Given the description of an element on the screen output the (x, y) to click on. 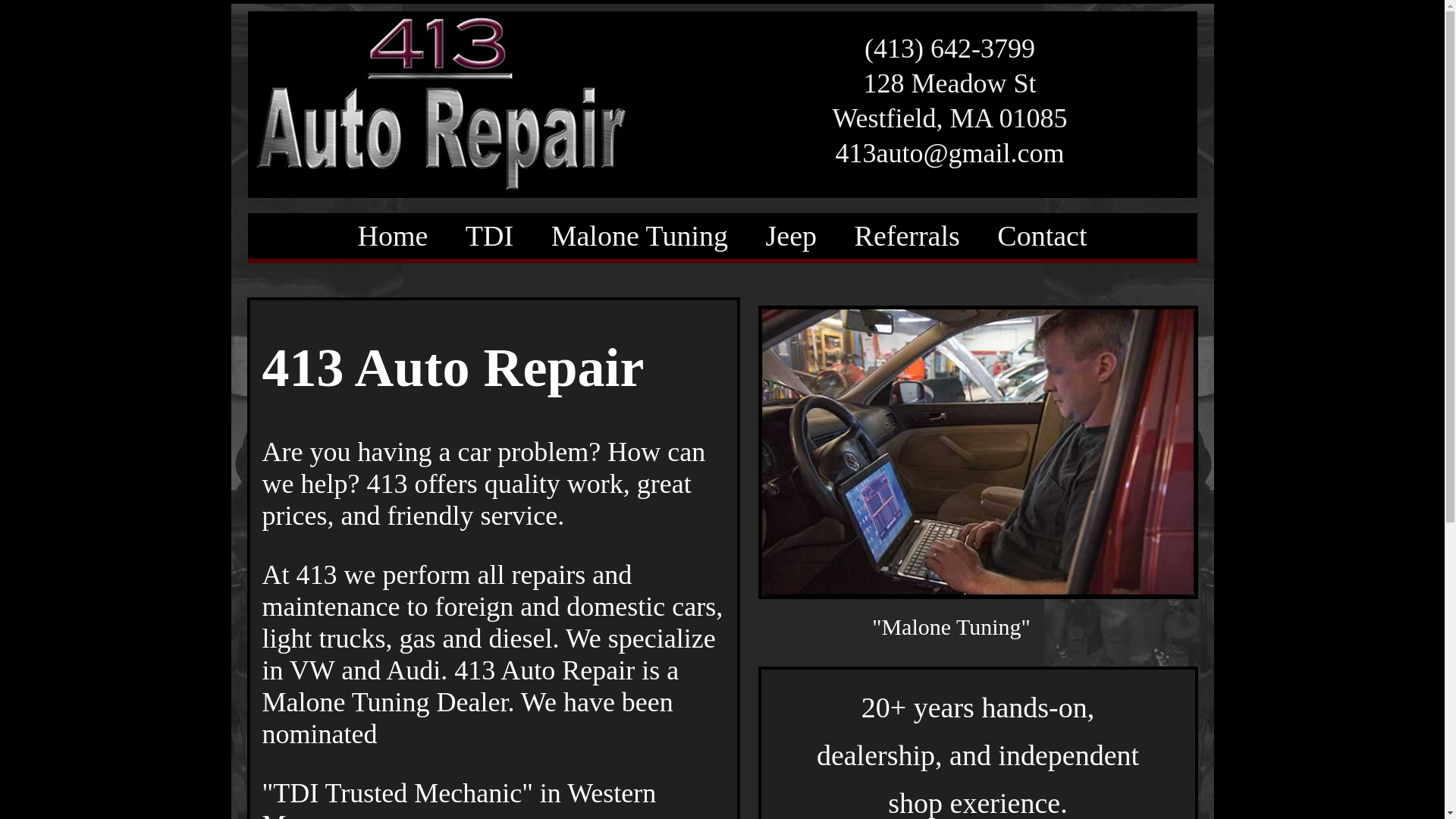
Jeep Element type: text (791, 235)
TDI Element type: text (489, 235)
Contact Element type: text (1041, 235)
Referrals Element type: text (907, 235)
413auto@gmail.com Element type: text (948, 153)
Malone Tuning Element type: text (639, 235)
Home Element type: text (392, 235)
